Given the description of an element on the screen output the (x, y) to click on. 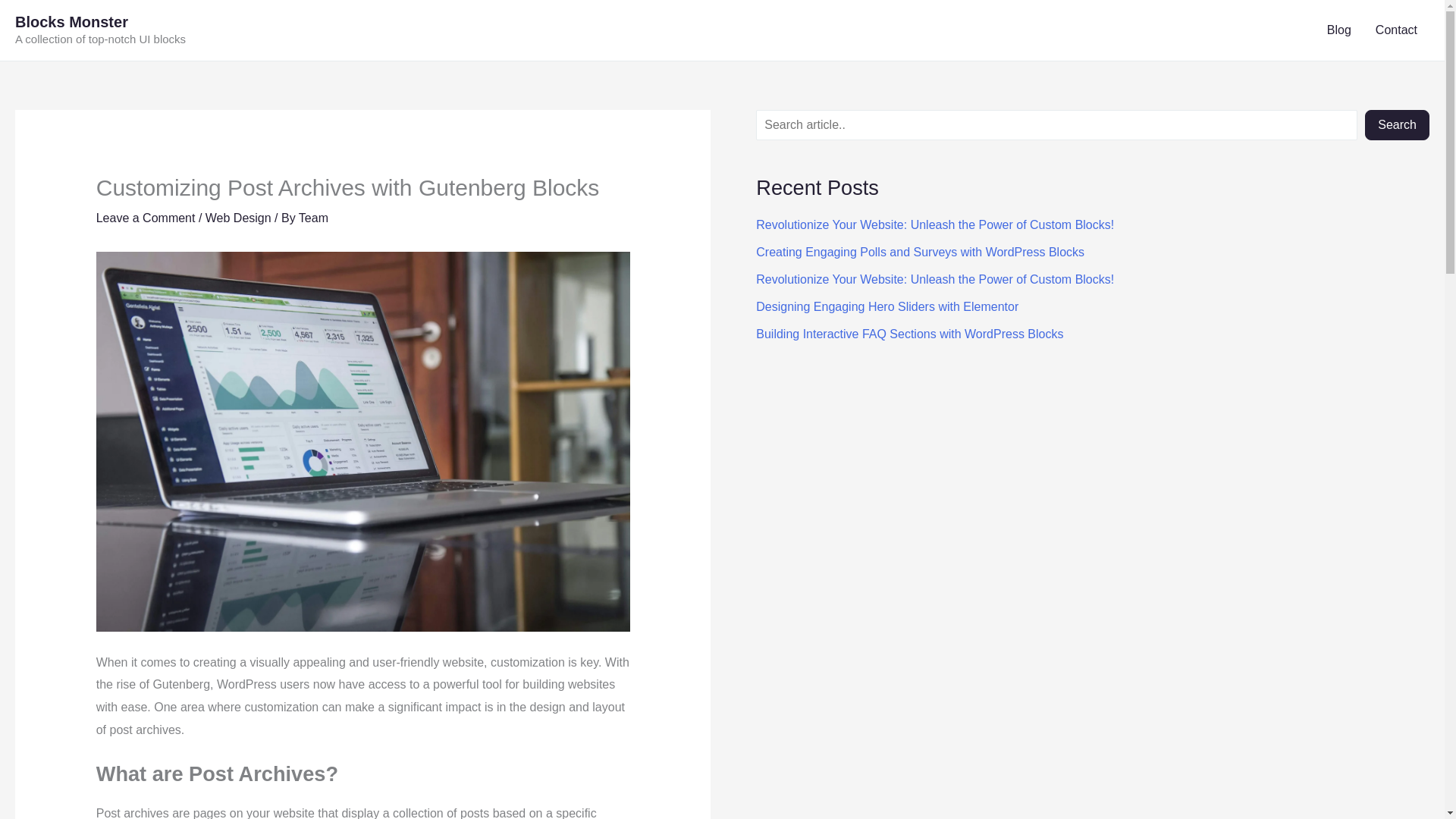
Search (1397, 124)
Building Interactive FAQ Sections with WordPress Blocks (908, 333)
Designing Engaging Hero Sliders with Elementor (886, 306)
Team (313, 217)
Leave a Comment (145, 217)
Blocks Monster (71, 21)
Creating Engaging Polls and Surveys with WordPress Blocks (919, 251)
Web Design (237, 217)
